Given the description of an element on the screen output the (x, y) to click on. 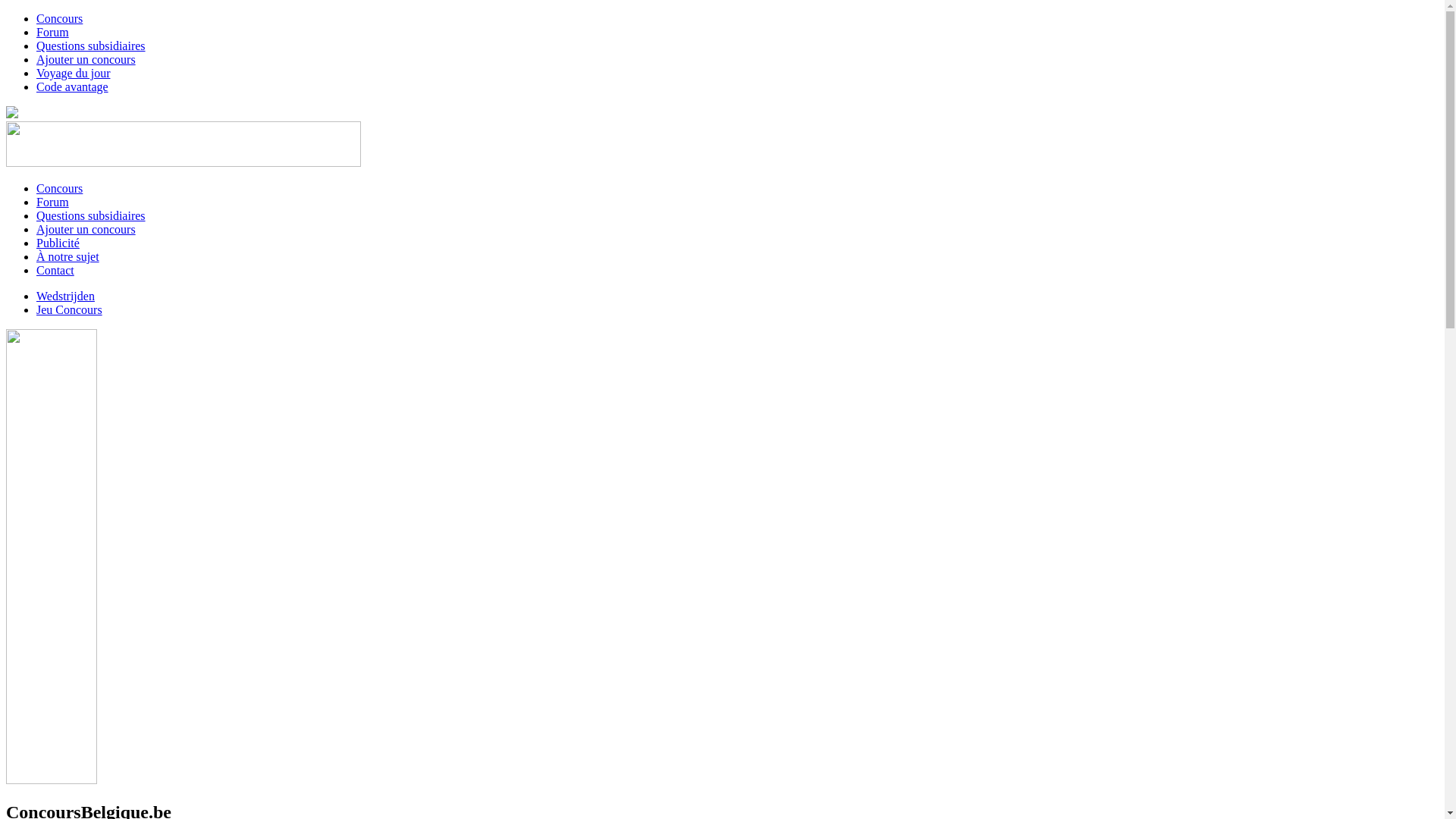
Code avantage Element type: text (72, 86)
Wedstrijden Element type: text (65, 295)
Contact Element type: text (55, 269)
Forum Element type: text (52, 31)
Questions subsidiaires Element type: text (90, 215)
Concours Element type: text (59, 18)
Jeu Concours Element type: text (69, 309)
Ajouter un concours Element type: text (85, 59)
Forum Element type: text (52, 201)
Questions subsidiaires Element type: text (90, 45)
Concours Element type: text (59, 188)
Voyage du jour Element type: text (72, 72)
Ajouter un concours Element type: text (85, 228)
